Given the description of an element on the screen output the (x, y) to click on. 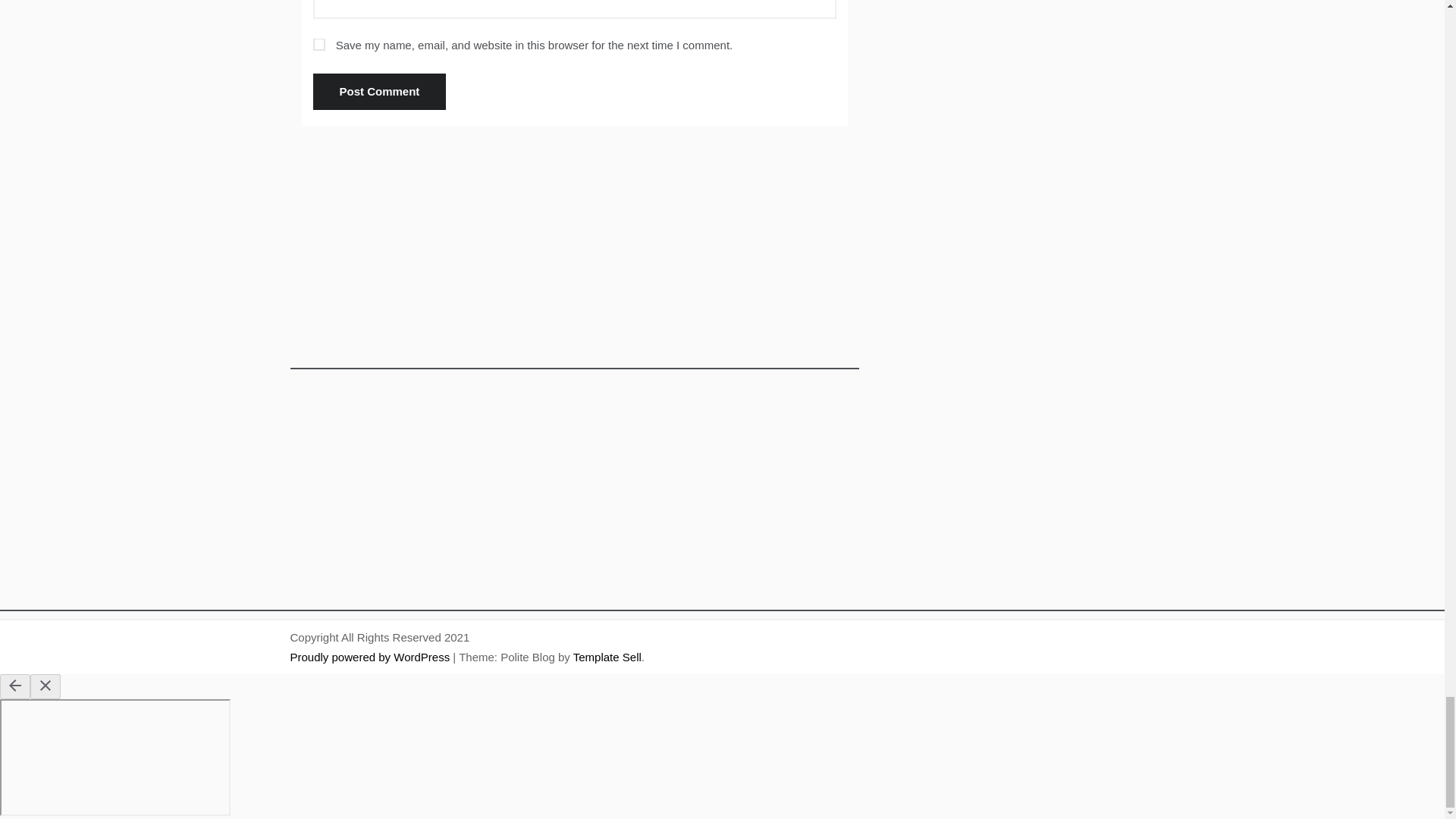
Post Comment (379, 91)
yes (318, 44)
Post Comment (379, 91)
